Given the description of an element on the screen output the (x, y) to click on. 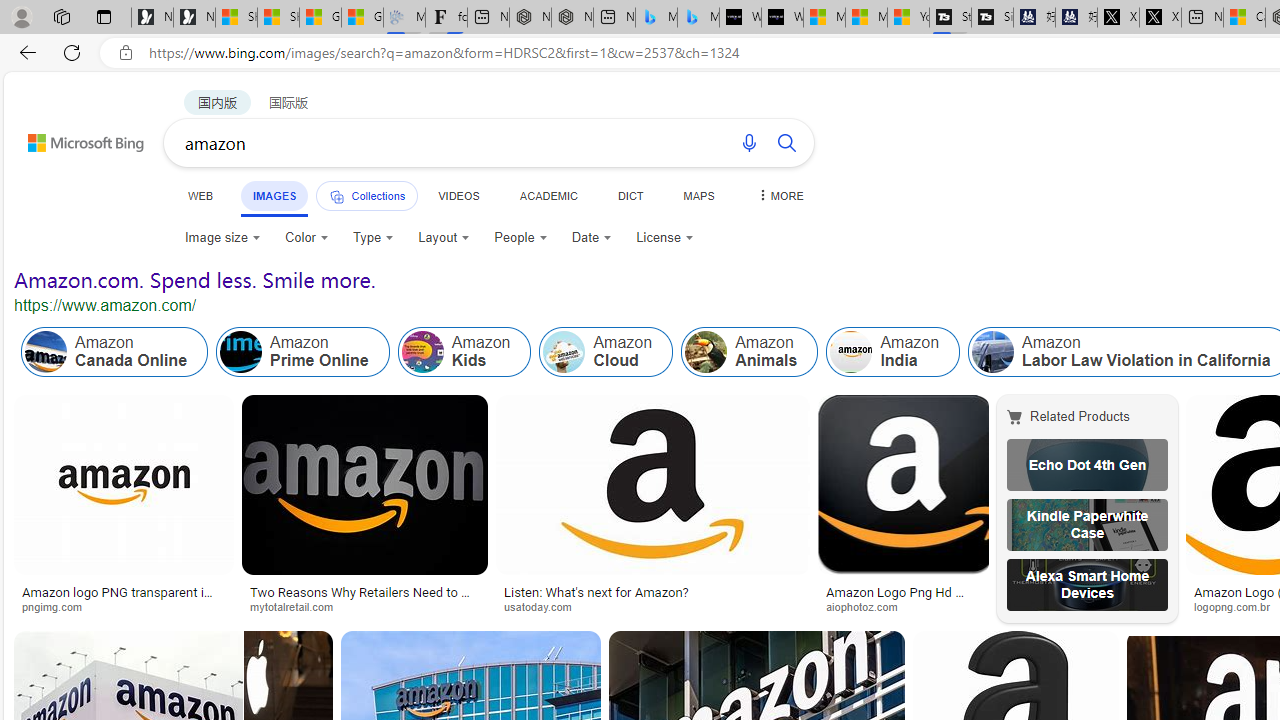
ACADEMIC (548, 195)
Alexa Smart Home Devices (1087, 584)
Date (591, 237)
DICT (630, 195)
Amazon Echo Dot 4th Gen (1087, 465)
IMAGES (274, 195)
VIDEOS (458, 195)
Image result for amazon (288, 675)
Amazon Canada Online (45, 351)
Layout (443, 237)
Amazon Kids (464, 351)
